Given the description of an element on the screen output the (x, y) to click on. 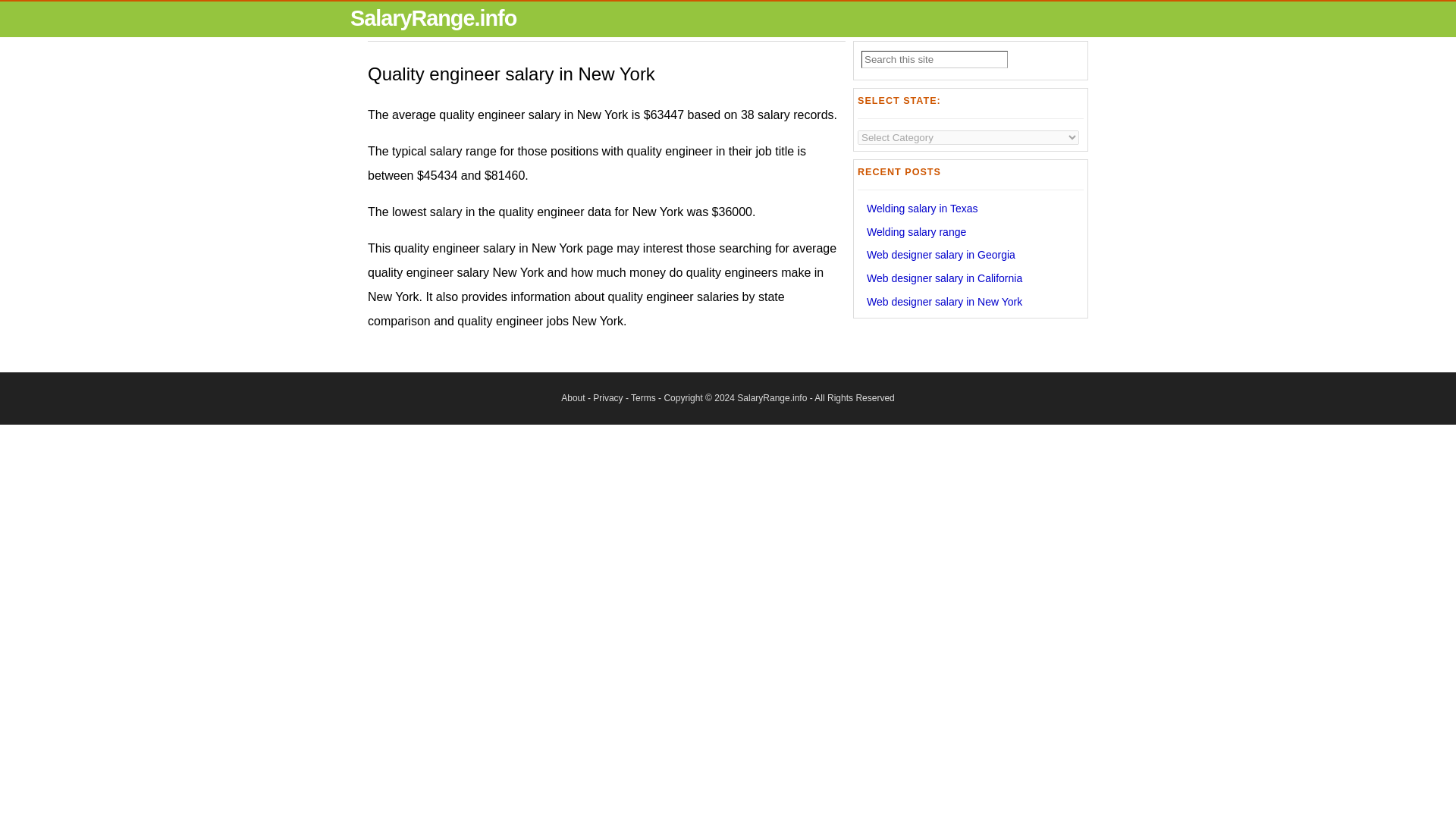
Welding salary range (916, 232)
Web designer salary in Georgia (940, 254)
Web designer salary in California (944, 277)
SalaryRange.info (433, 17)
SalaryRange.info (771, 398)
About (572, 398)
Welding salary in Texas (922, 208)
Terms (643, 398)
Web designer salary in New York (944, 301)
Search this site (934, 58)
Privacy (607, 398)
